Given the description of an element on the screen output the (x, y) to click on. 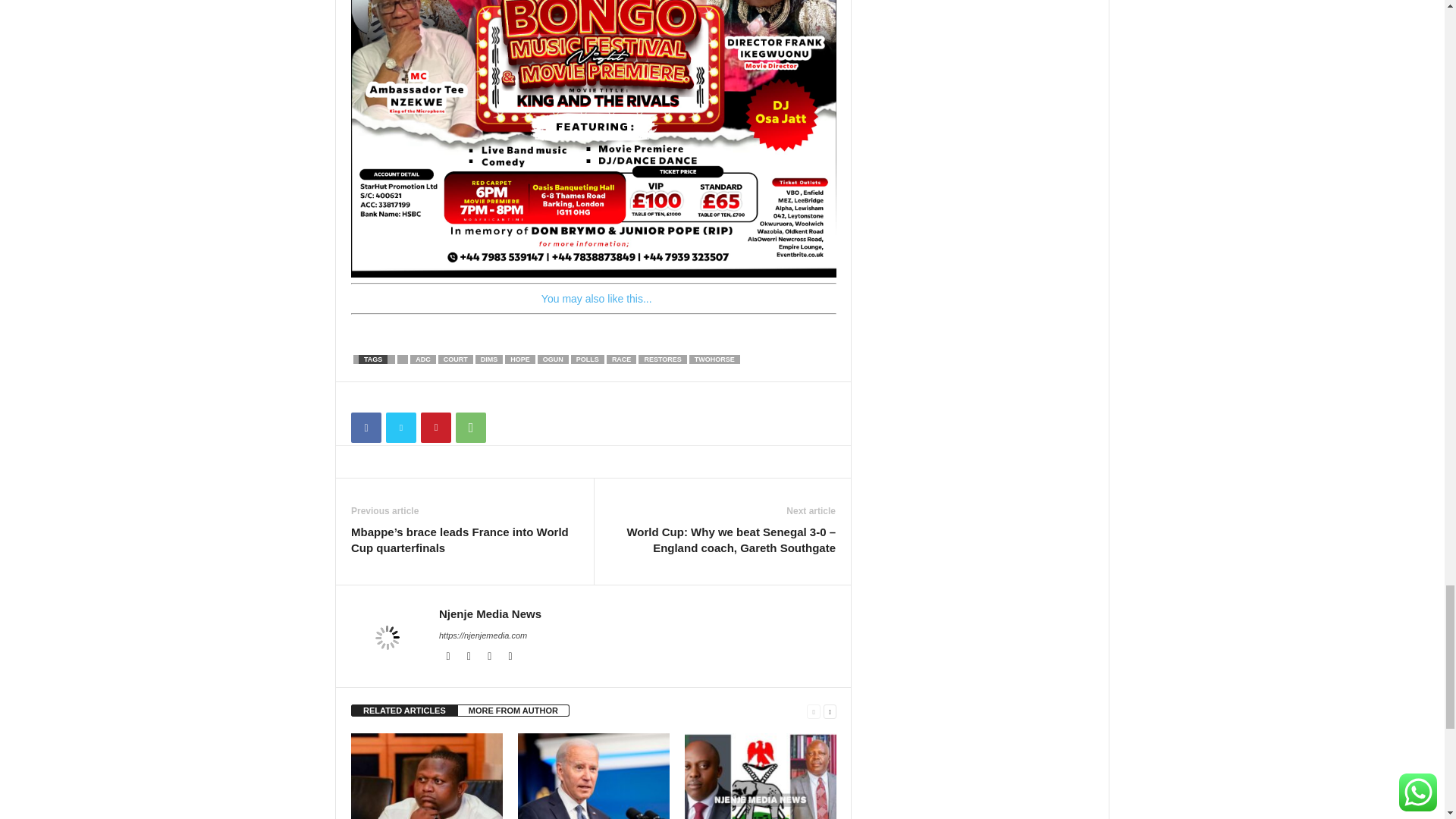
WhatsApp (470, 427)
Twitter (400, 427)
Pinterest (435, 427)
Facebook (365, 427)
